Given the description of an element on the screen output the (x, y) to click on. 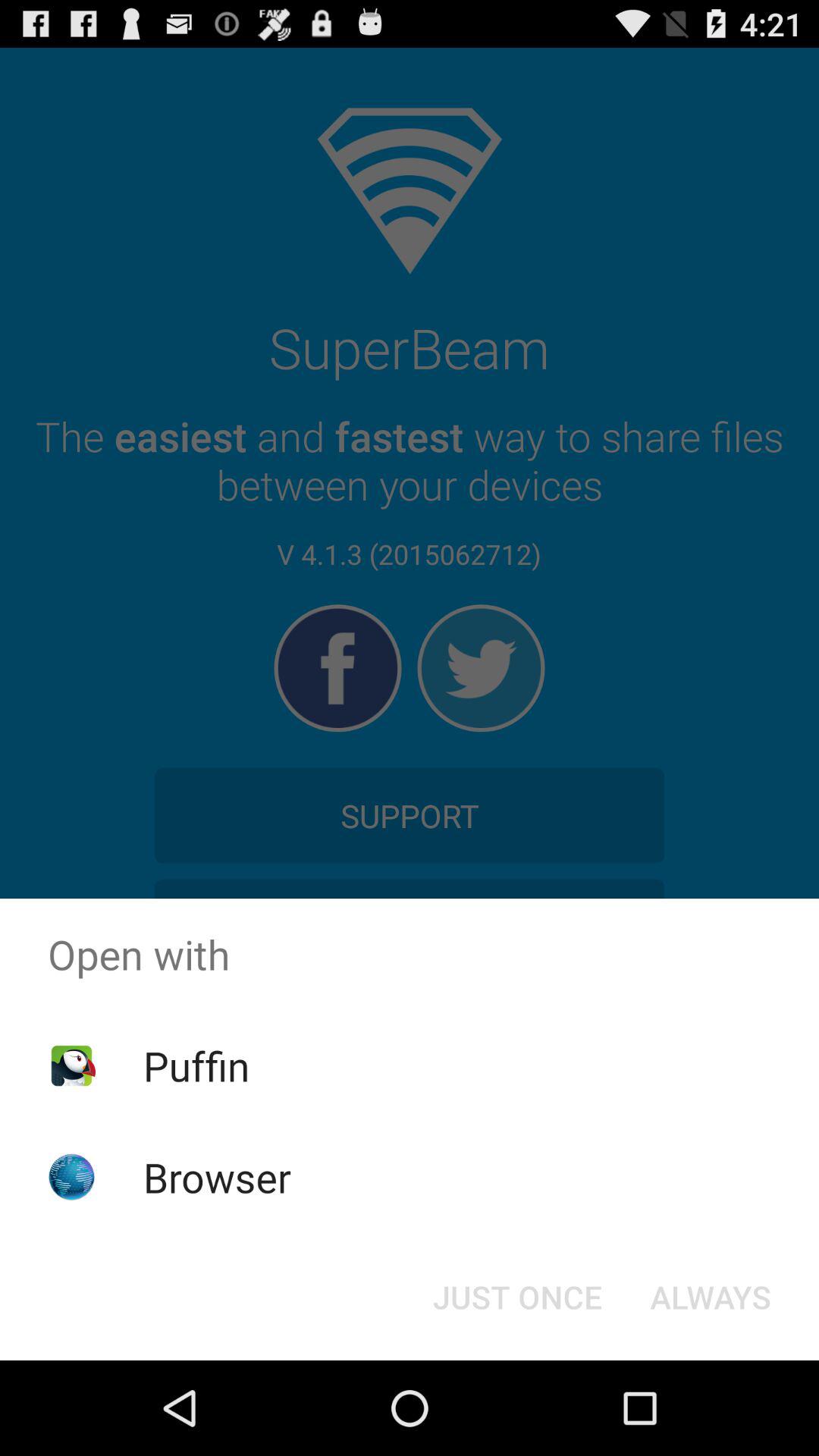
launch the app below open with (196, 1065)
